Given the description of an element on the screen output the (x, y) to click on. 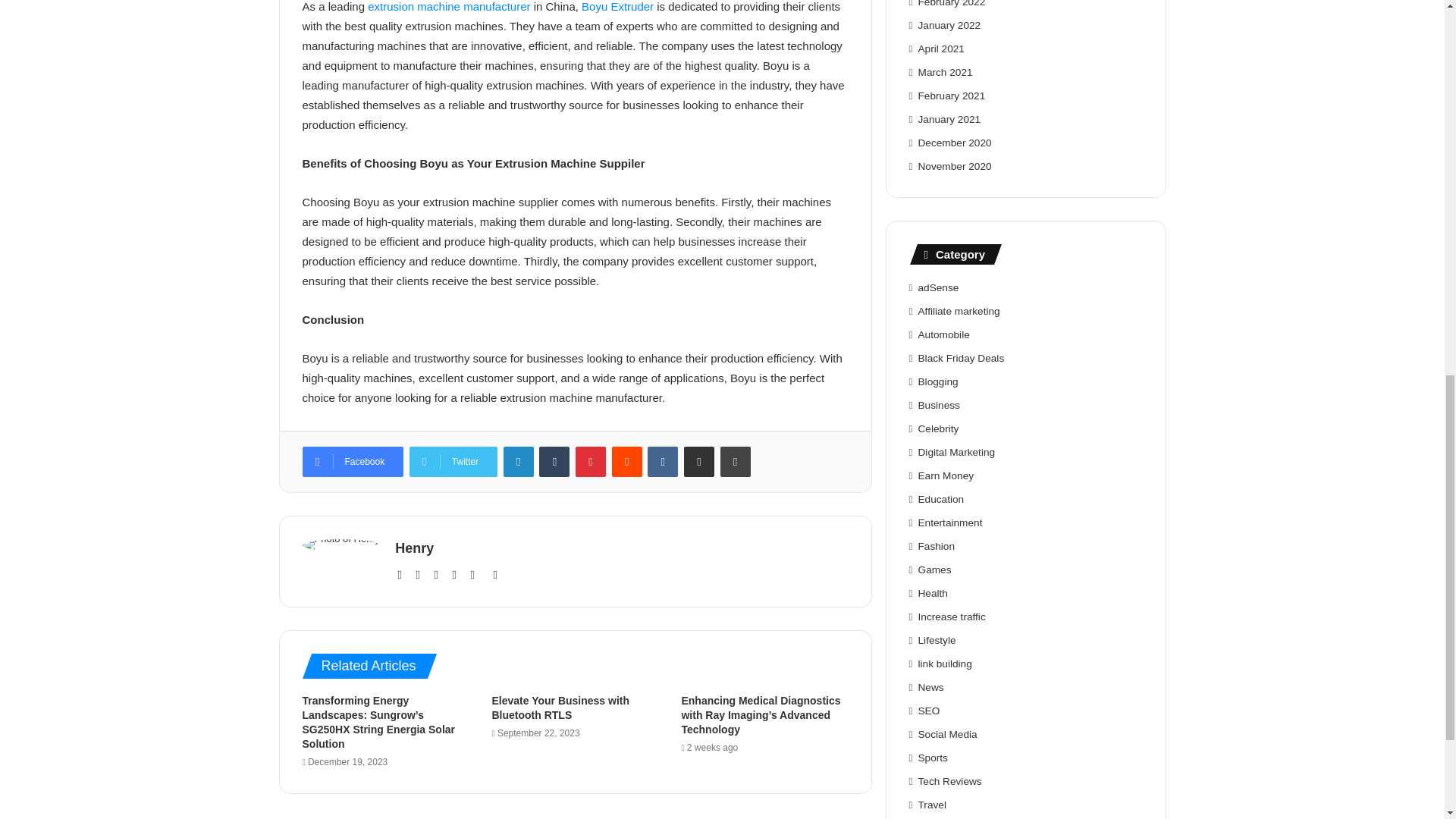
Share via Email (699, 460)
Print (735, 460)
VKontakte (662, 460)
Pinterest (476, 574)
Twitter (453, 460)
Pinterest (590, 460)
Boyu Extruder (616, 6)
Share via Email (699, 460)
Reddit (626, 460)
Print (735, 460)
